Given the description of an element on the screen output the (x, y) to click on. 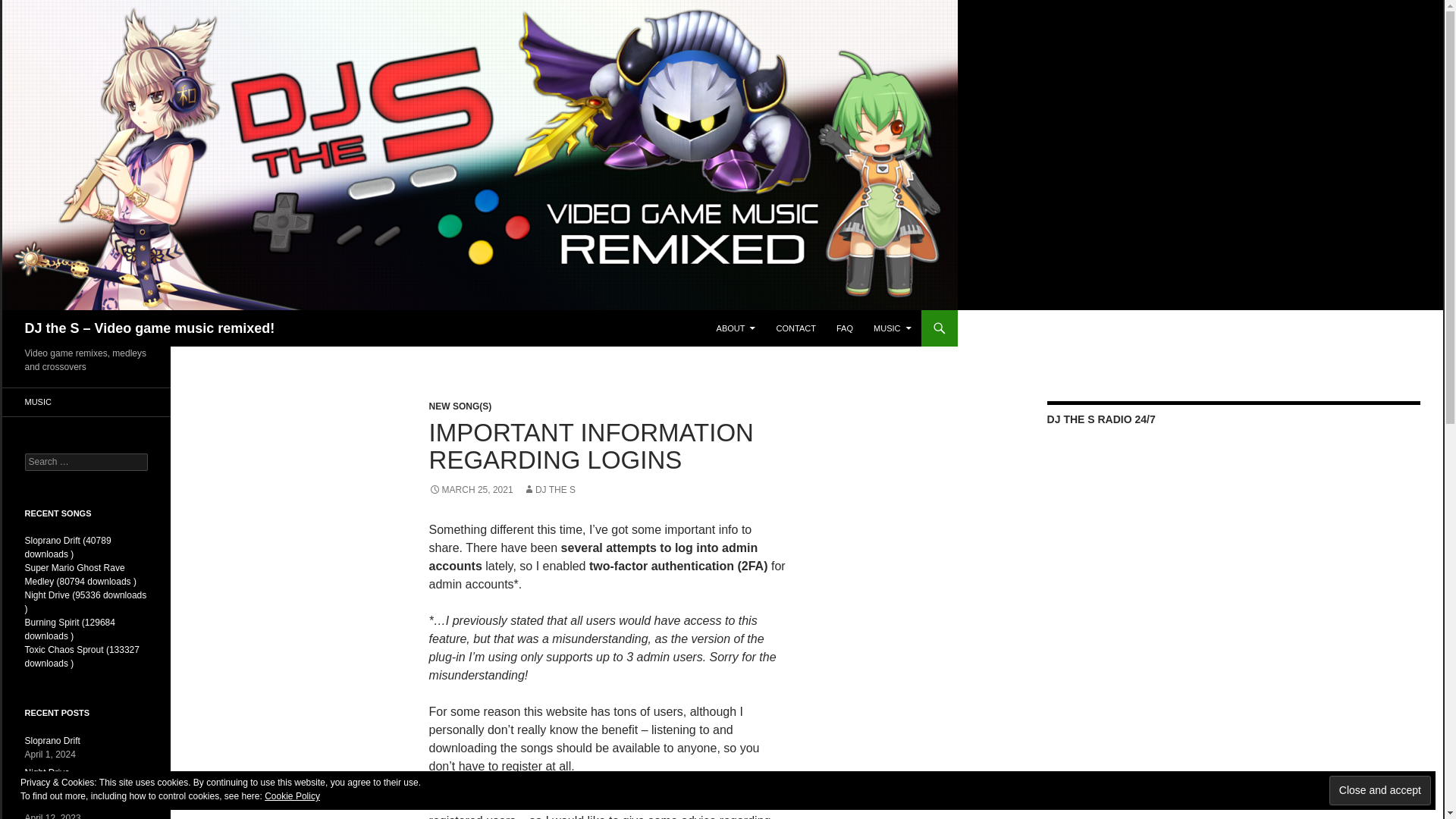
DJ THE S (548, 489)
FAQ (844, 328)
ABOUT (736, 328)
MARCH 25, 2021 (471, 489)
MUSIC (85, 402)
CONTACT (796, 328)
Close and accept (1380, 790)
MUSIC (892, 328)
